Given the description of an element on the screen output the (x, y) to click on. 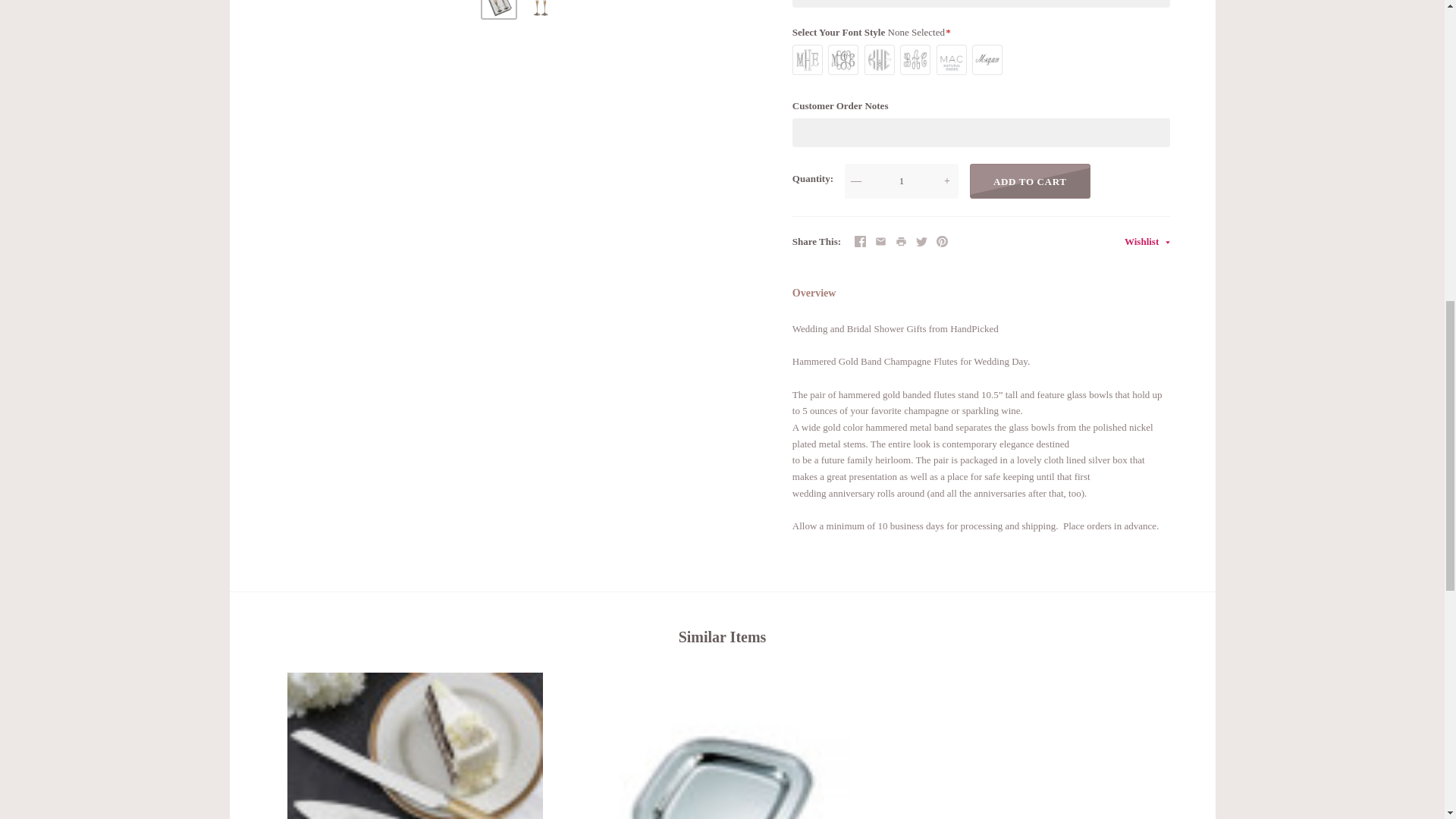
Gold Hammered Wedding Champagne Flutes (498, 8)
1 (901, 181)
The Monogram Square Tray in  9.5 - inches (722, 745)
Gold Hammered Wedding Champagne Flutes (540, 8)
Monogram Gold Hammered Wedding Cake Knife Set (414, 745)
